Given the description of an element on the screen output the (x, y) to click on. 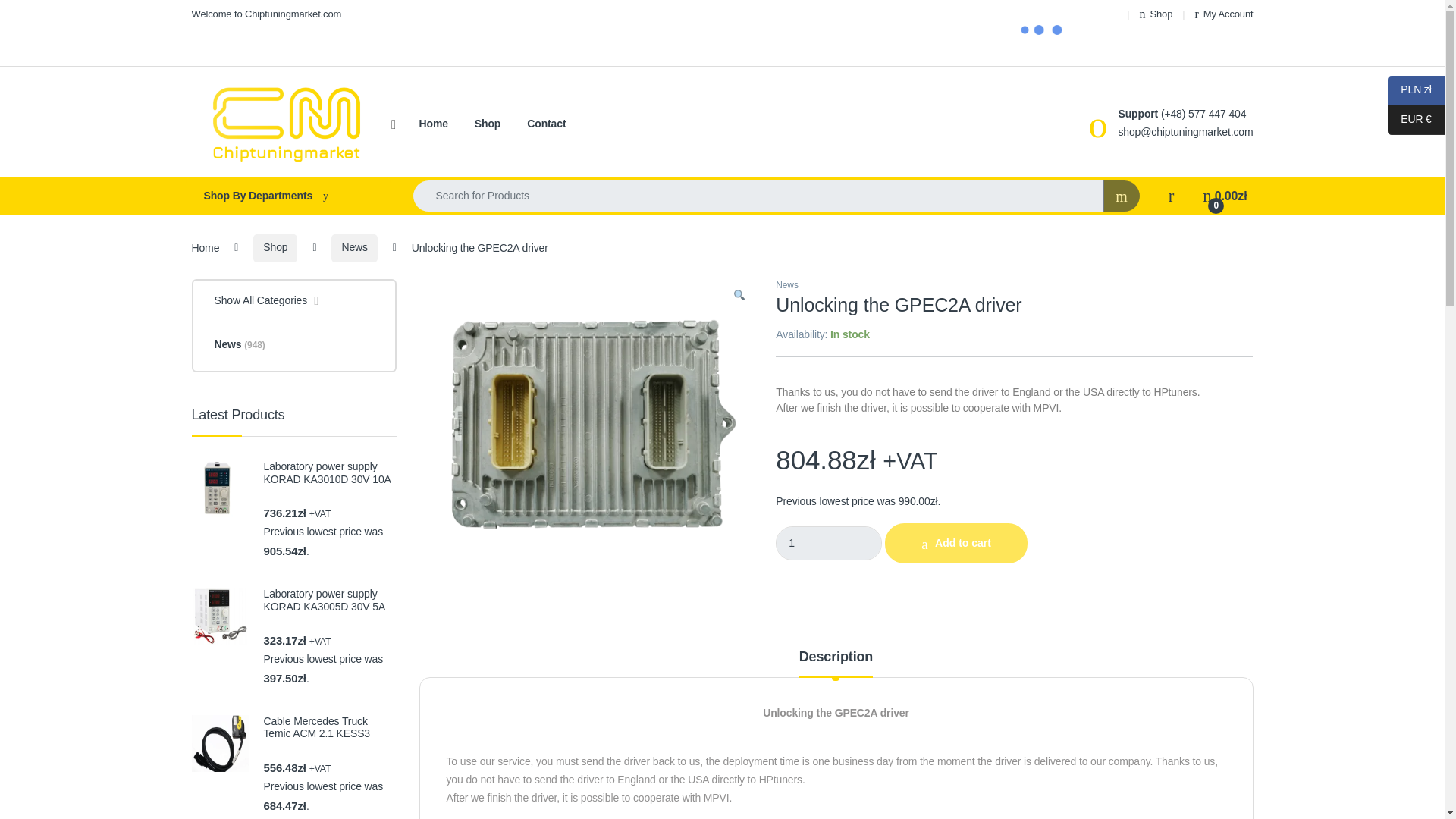
1 (829, 543)
Welcome to Chiptuningmarket.com (265, 13)
My Account (1224, 13)
Contact (546, 124)
Shop (1156, 13)
My Account (1224, 13)
Shop By Departments (287, 196)
Shop (1156, 13)
Contact (546, 124)
Welcome to Chiptuningmarket.com (265, 13)
